Given the description of an element on the screen output the (x, y) to click on. 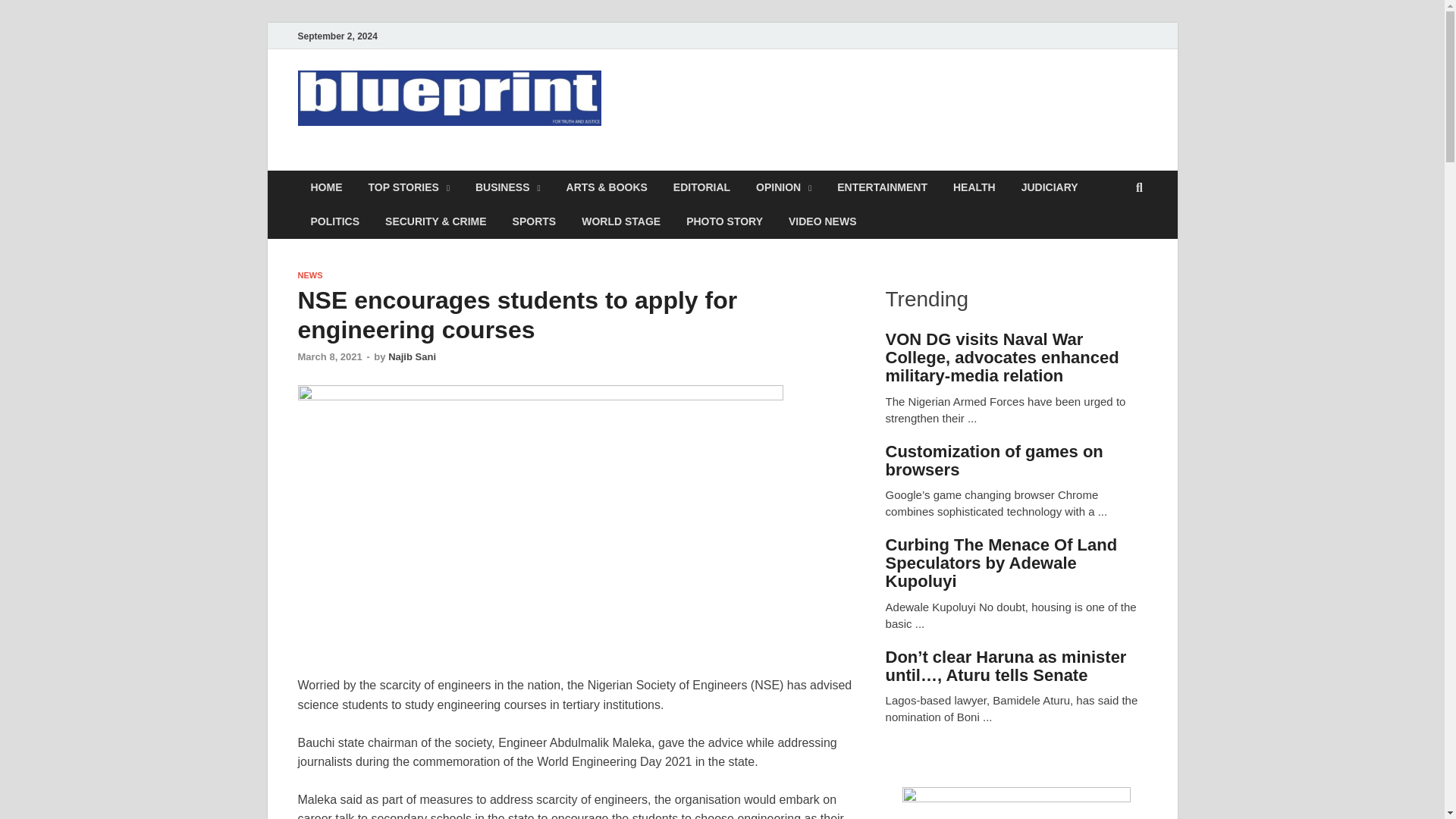
BUSINESS (508, 187)
HOME (326, 187)
ENTERTAINMENT (882, 187)
EDITORIAL (701, 187)
OPINION (783, 187)
Blueprint Newspapers Limited (504, 161)
TOP STORIES (408, 187)
